Given the description of an element on the screen output the (x, y) to click on. 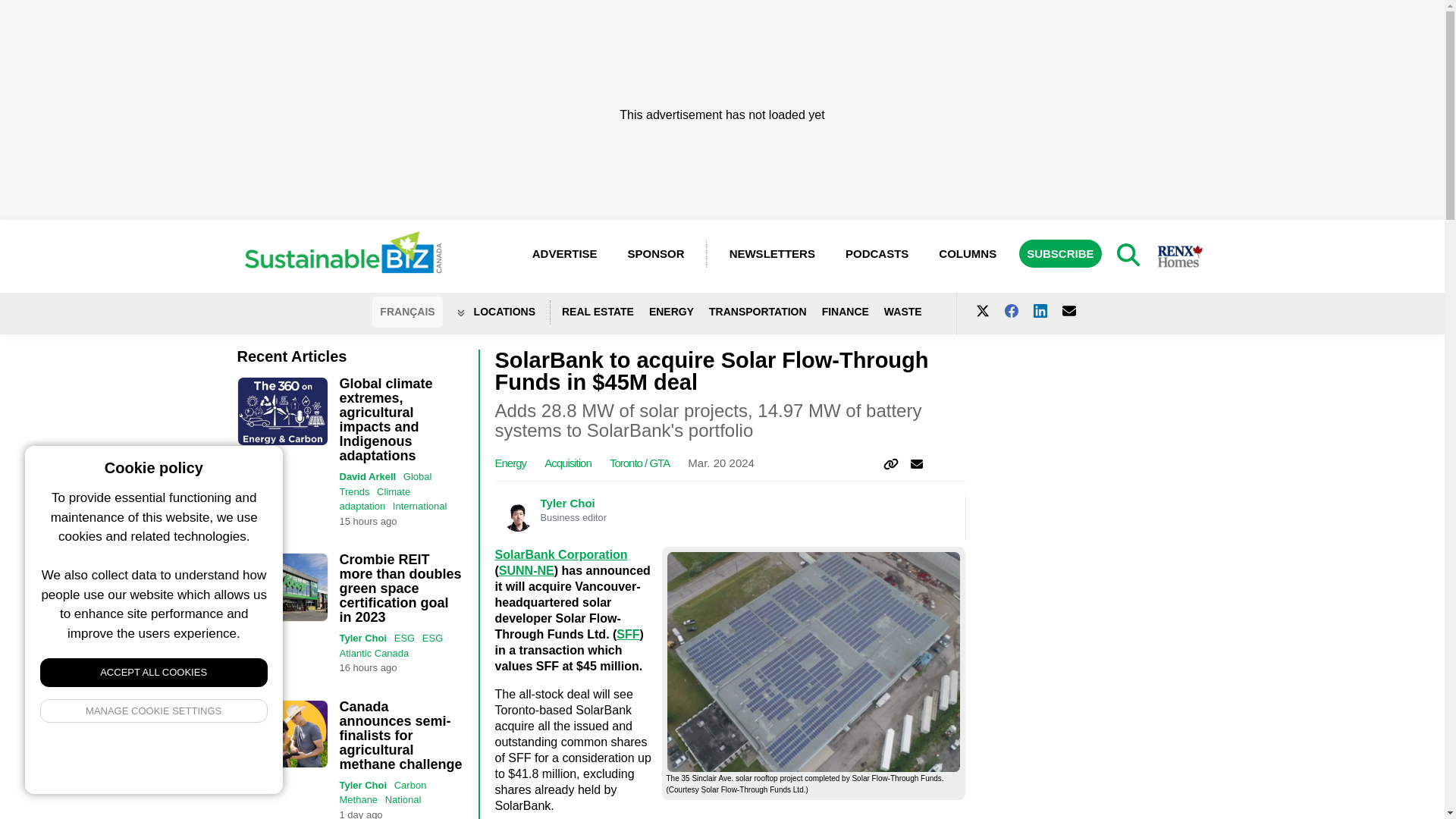
SUBSCRIBE (1059, 253)
FINANCE (852, 311)
WASTE (910, 311)
ENERGY (679, 311)
NEWSLETTERS (772, 253)
ADVERTISE (564, 253)
LOCATIONS (503, 311)
COLUMNS (967, 253)
SPONSOR (663, 253)
